Given the description of an element on the screen output the (x, y) to click on. 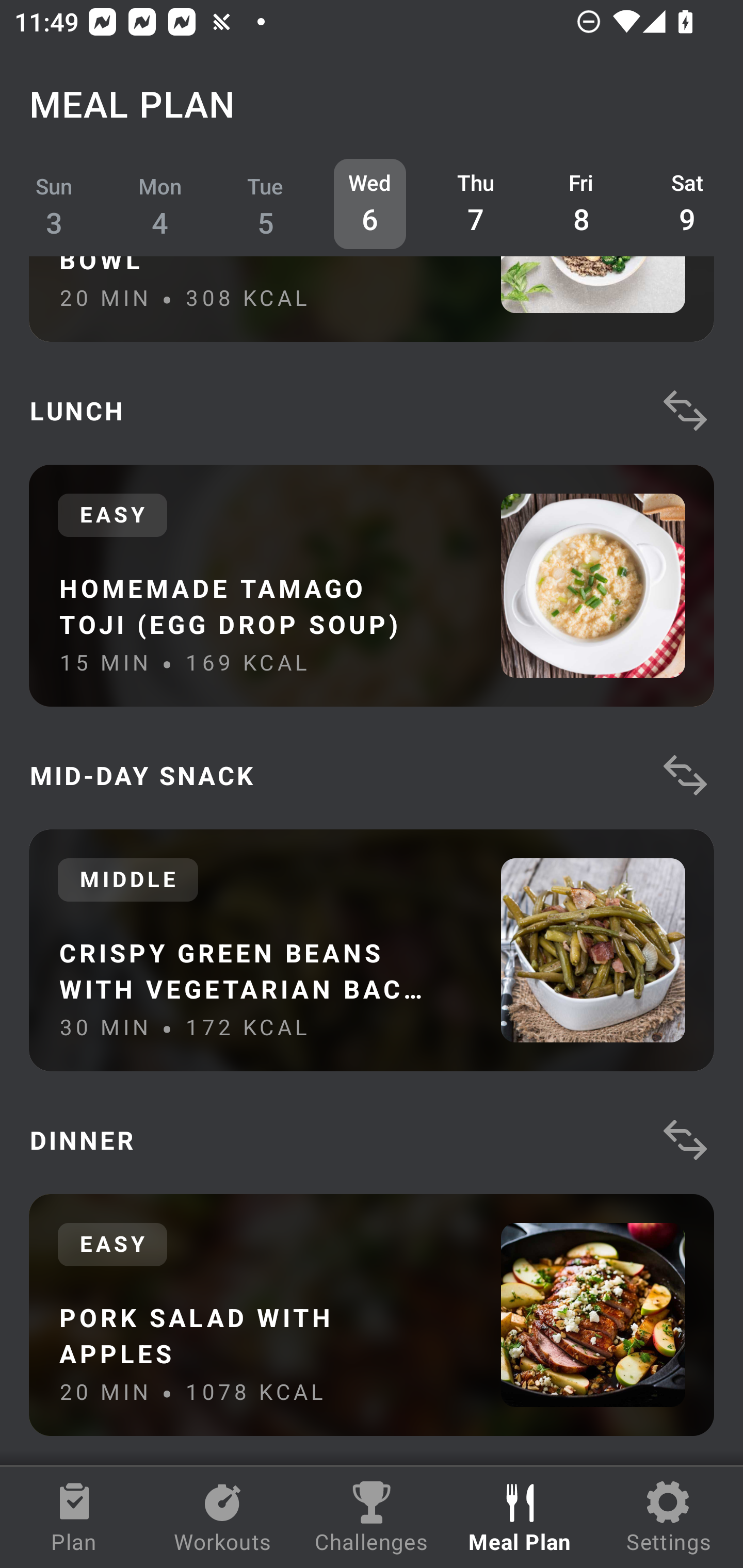
Wed 6 (369, 203)
Thu 7 (475, 203)
Fri 8 (581, 203)
Sat 9 (687, 203)
EASY PORK SALAD WITH APPLES 20 MIN • 1078 KCAL (371, 1315)
 Plan  (74, 1517)
 Workouts  (222, 1517)
 Challenges  (371, 1517)
 Settings  (668, 1517)
